Given the description of an element on the screen output the (x, y) to click on. 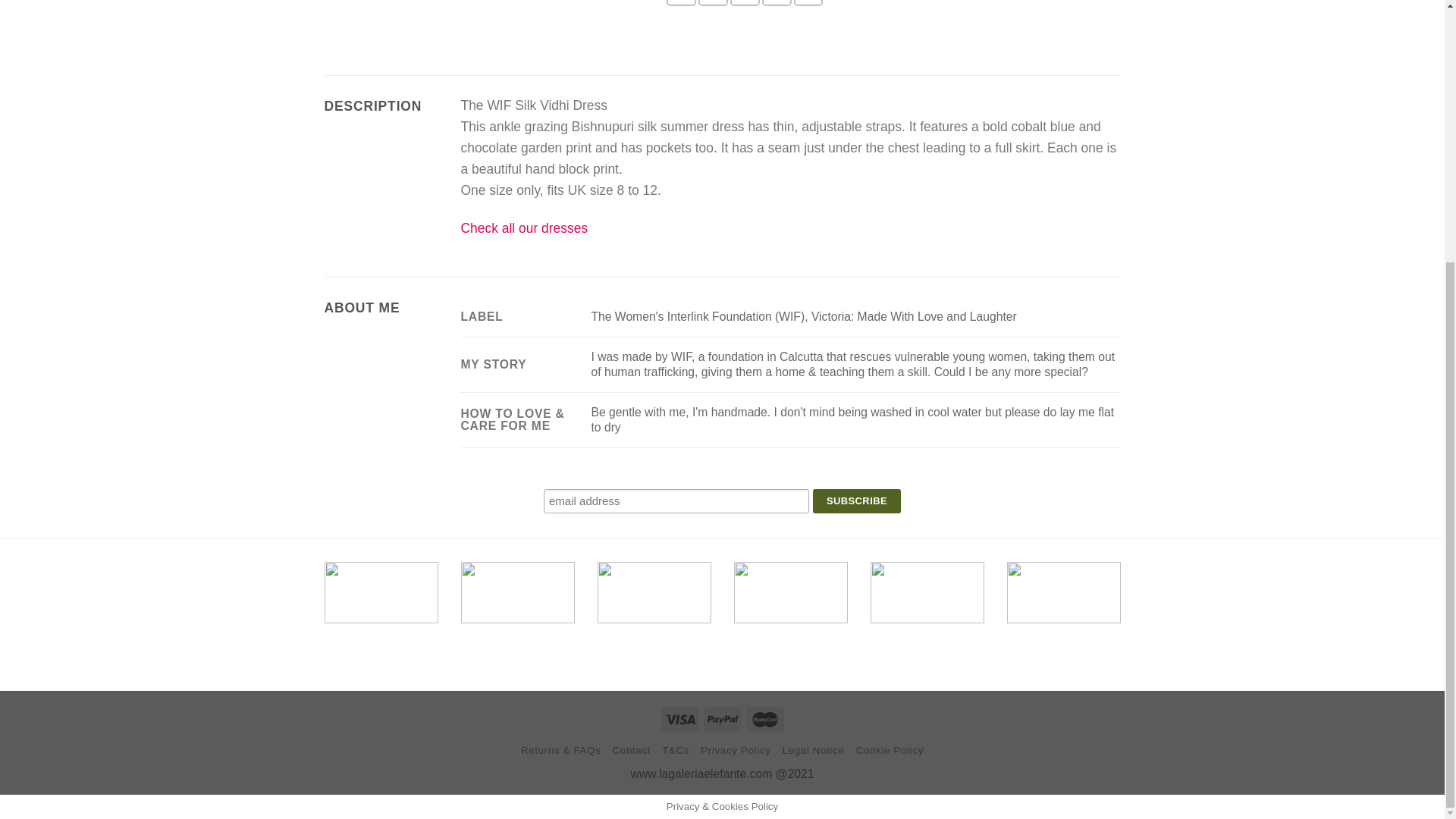
Subscribe (856, 501)
Share on Twitter (713, 2)
Share on Facebook (680, 2)
